Given the description of an element on the screen output the (x, y) to click on. 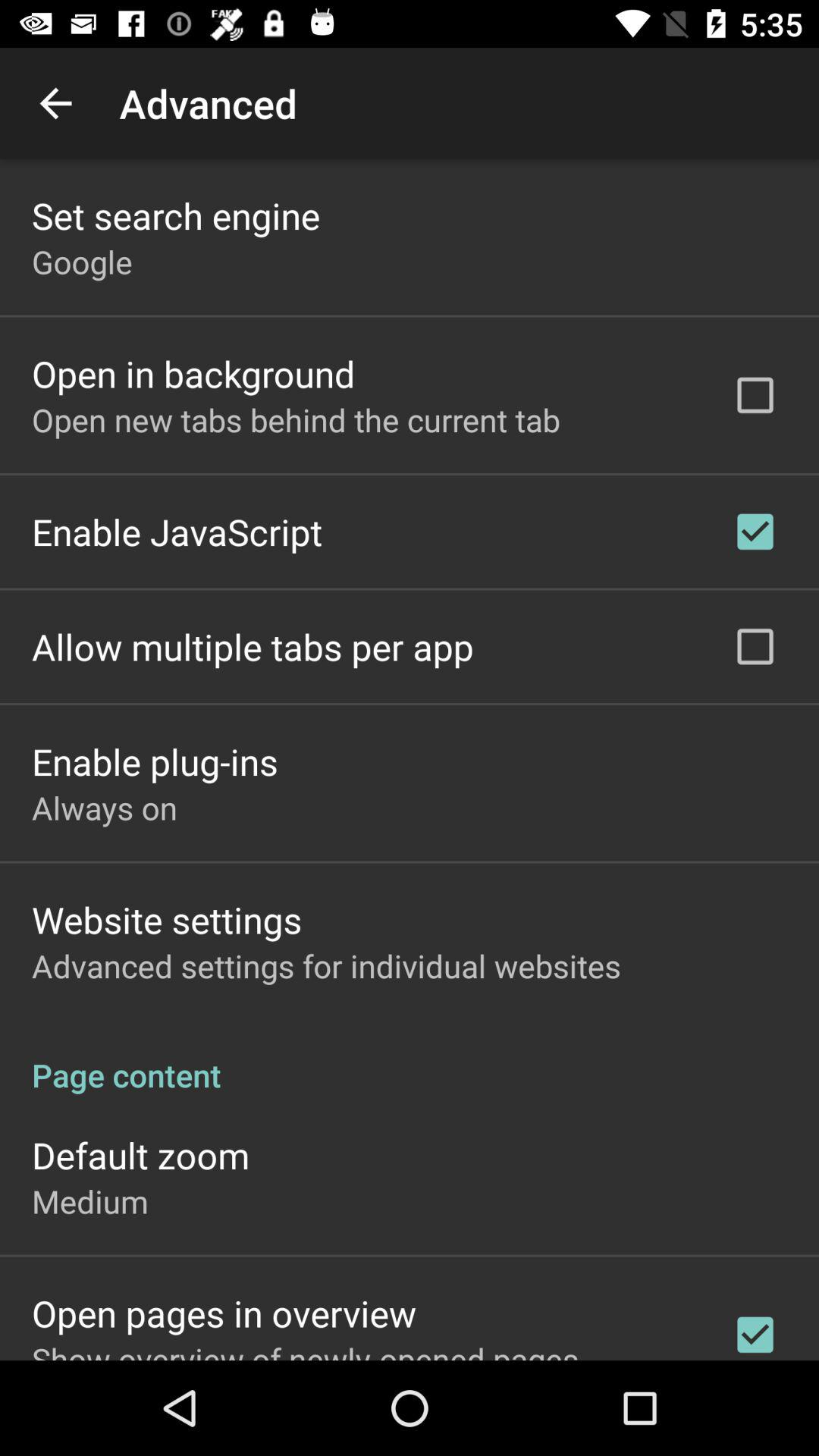
choose icon above the open in background item (81, 261)
